Given the description of an element on the screen output the (x, y) to click on. 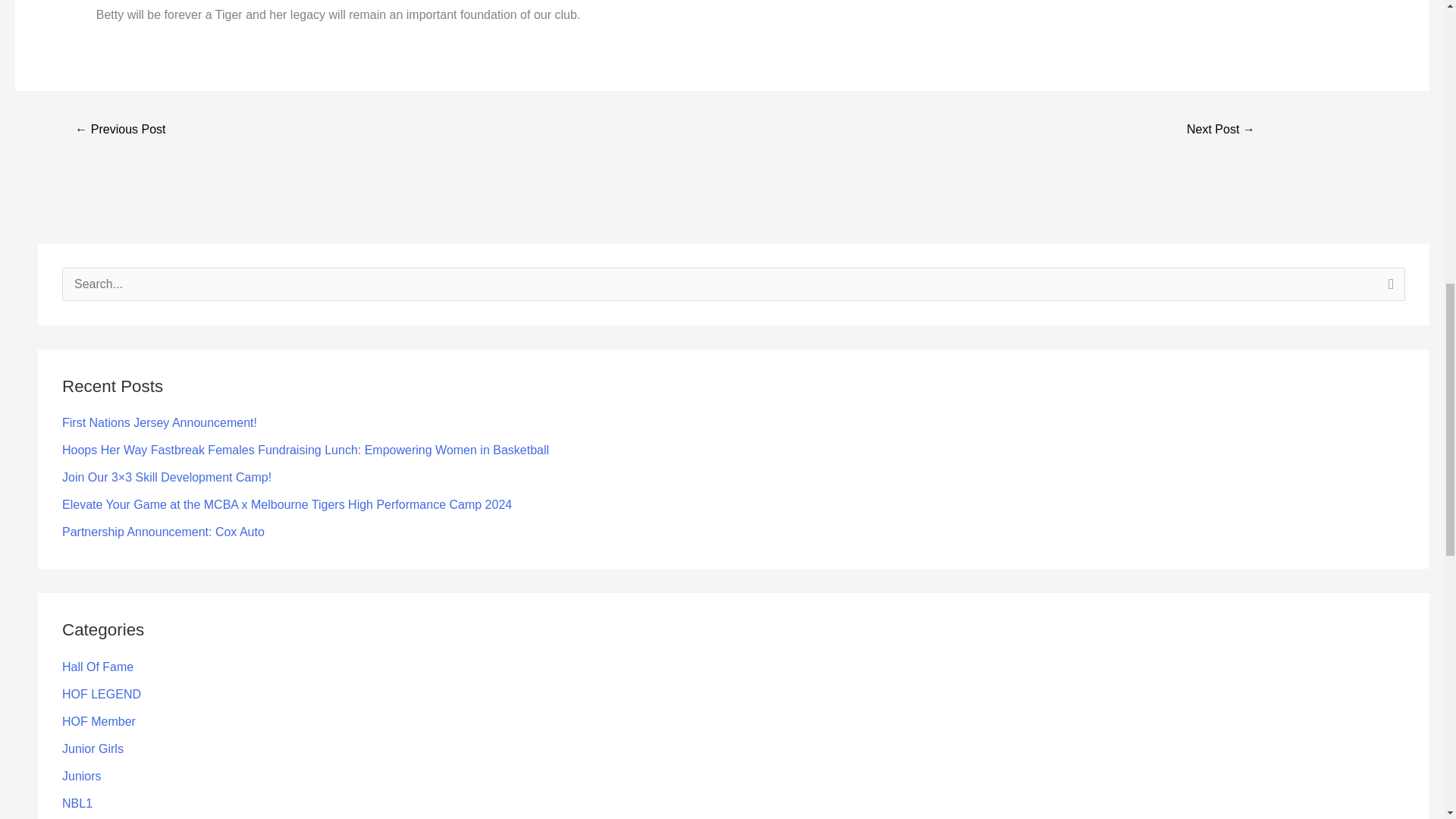
Hall Of Fame (97, 666)
First Nations Jersey Announcement! (159, 422)
Partnership Announcement: Cox Auto (163, 531)
Term 3 2022 Development Squad (119, 130)
